Given the description of an element on the screen output the (x, y) to click on. 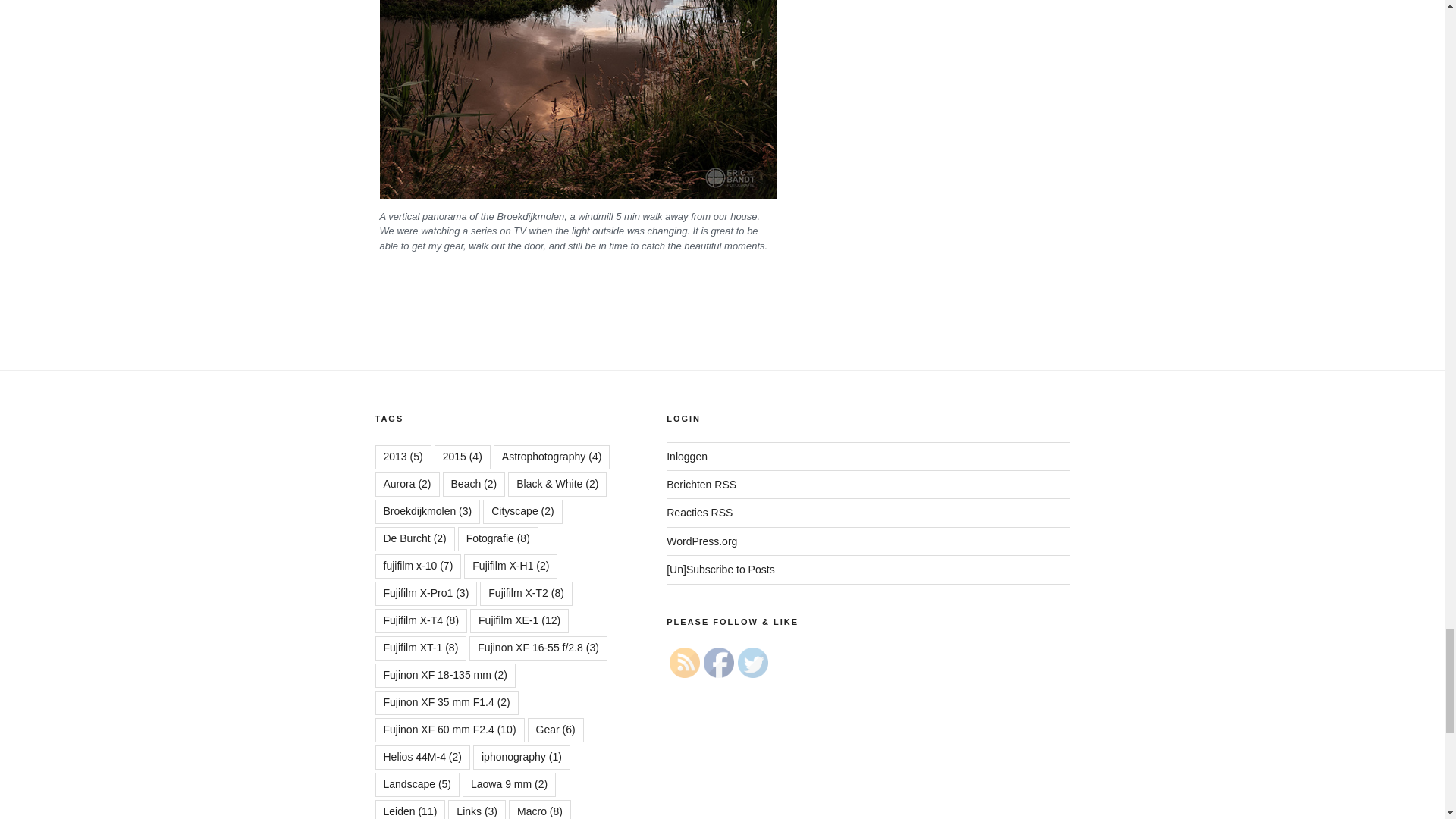
Really Simple Syndication (722, 512)
Facebook (718, 662)
RSS (684, 662)
Twitter (753, 662)
Really Simple Syndication (725, 484)
Mogelijk gemaakt door WordPress. (701, 541)
